Given the description of an element on the screen output the (x, y) to click on. 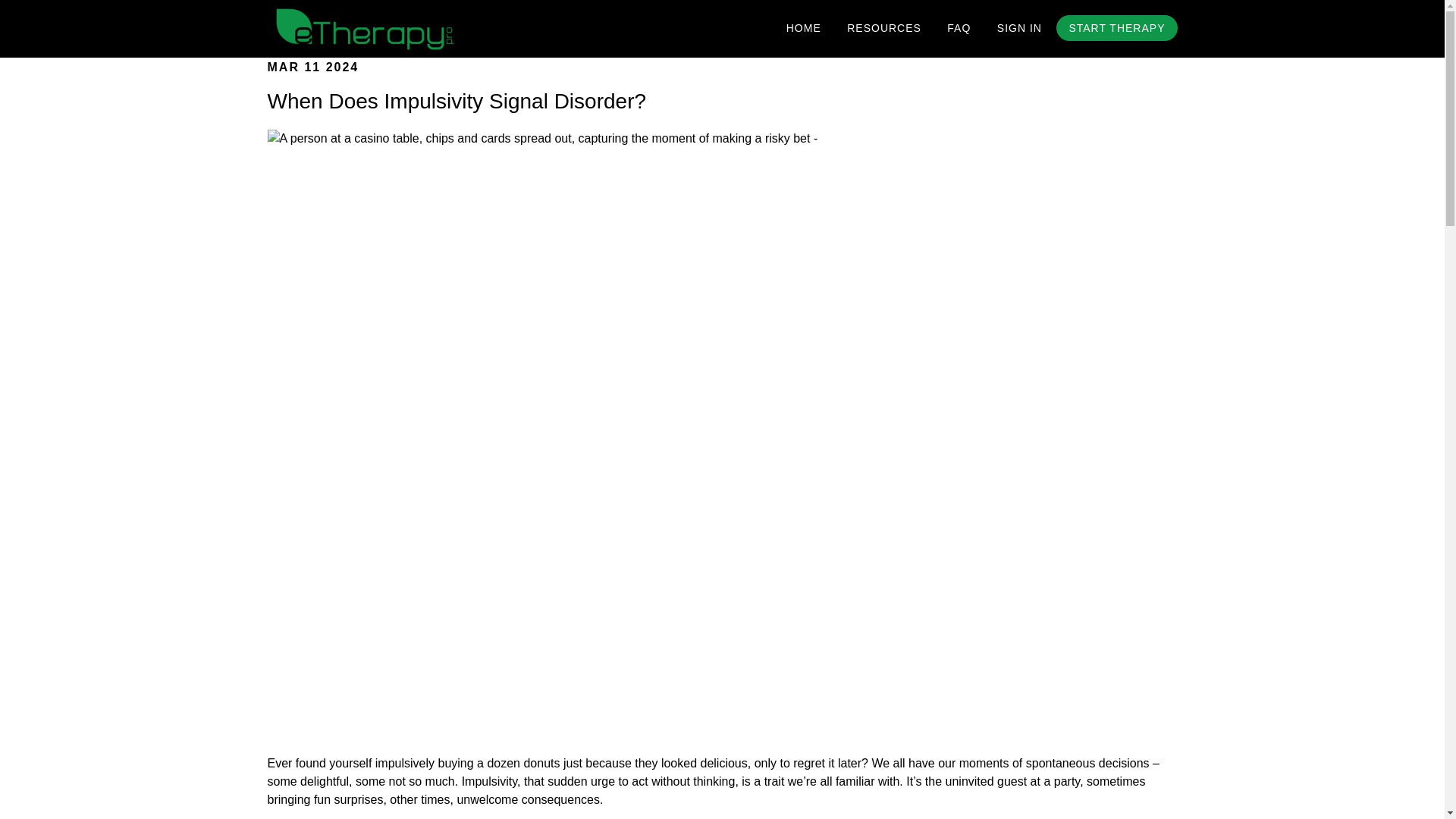
HOME (803, 28)
RESOURCES (884, 28)
When Does Impulsivity Signal Disorder? (456, 101)
SIGN IN (1018, 28)
START THERAPY (1116, 27)
